Given the description of an element on the screen output the (x, y) to click on. 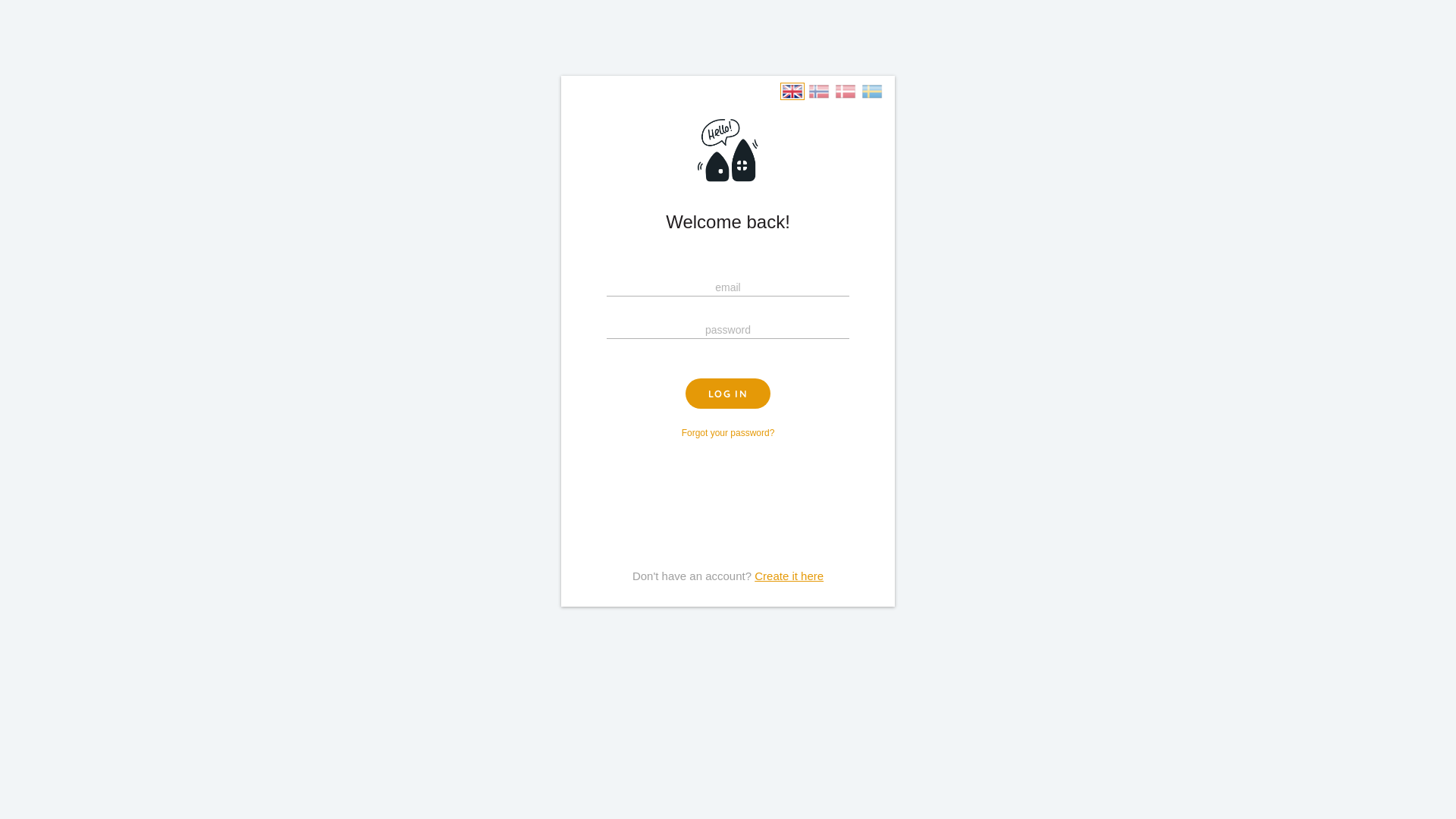
LOG IN Element type: text (727, 393)
Create it here Element type: text (788, 575)
English Element type: hover (792, 91)
Norwegian Element type: hover (818, 91)
Forgot your password? Element type: text (728, 432)
2homes Element type: hover (728, 150)
